Given the description of an element on the screen output the (x, y) to click on. 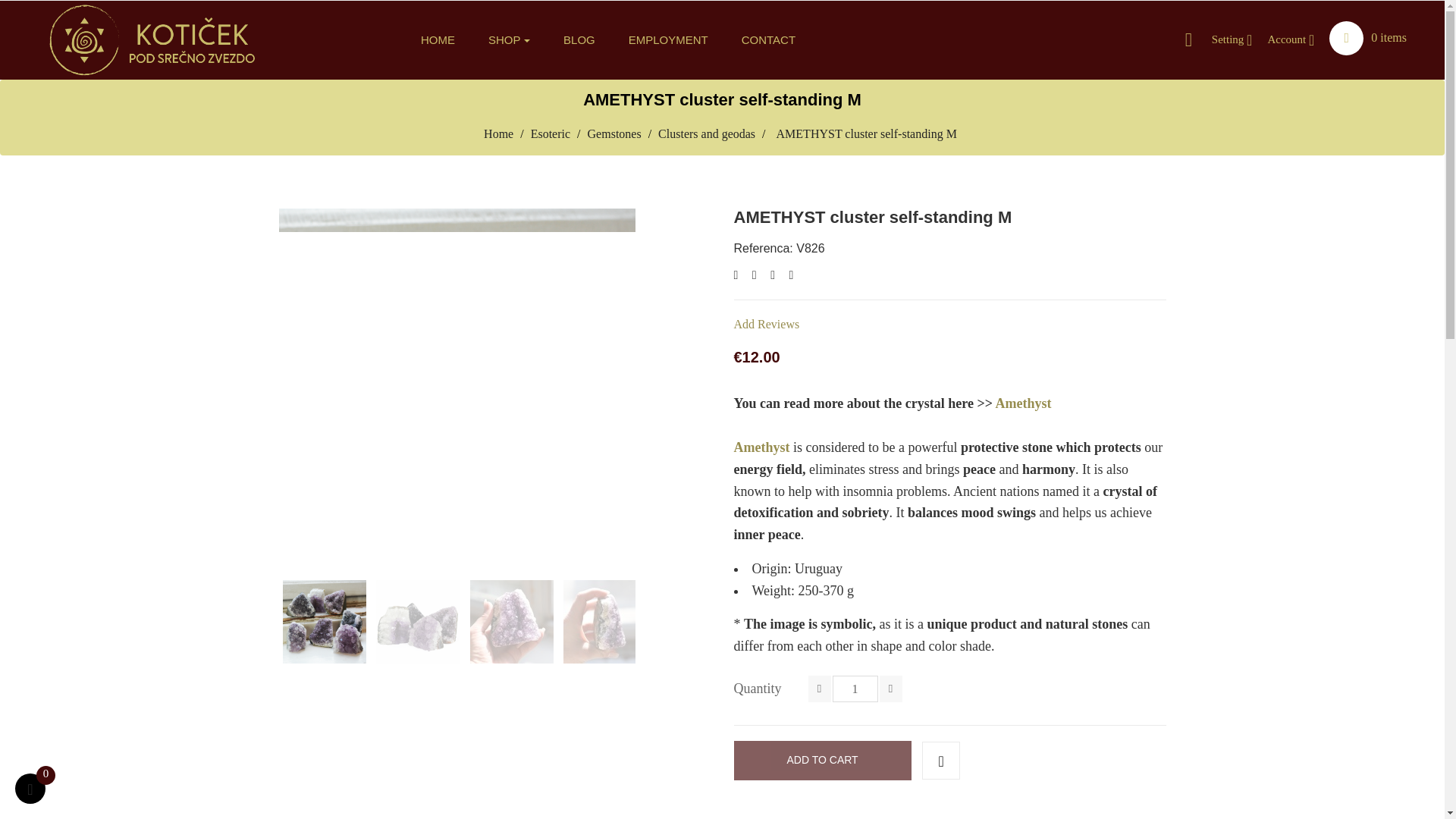
1 (854, 688)
SHOP (509, 39)
